Given the description of an element on the screen output the (x, y) to click on. 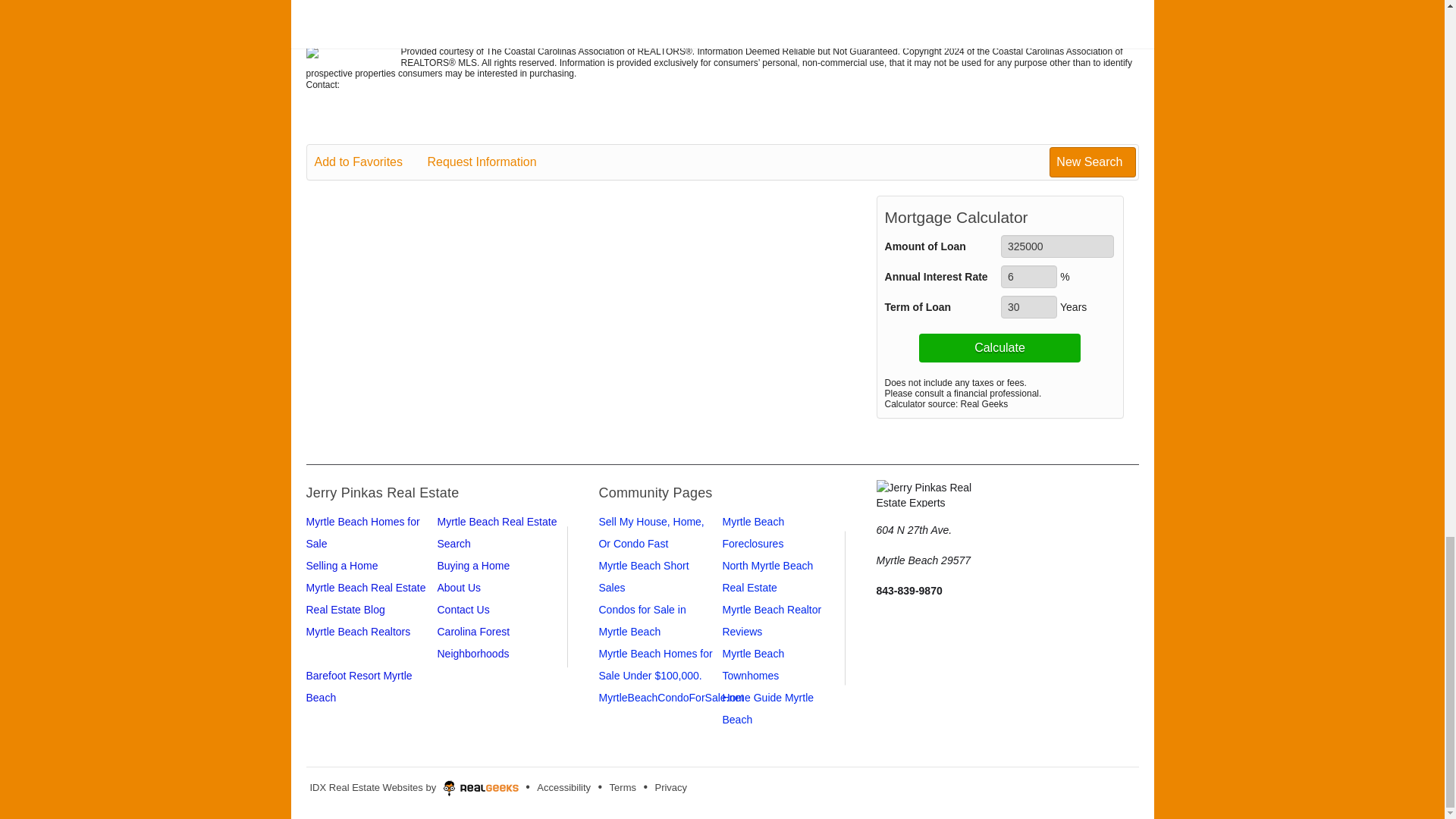
325000 (1057, 246)
30 (1029, 306)
6 (1029, 276)
